Given the description of an element on the screen output the (x, y) to click on. 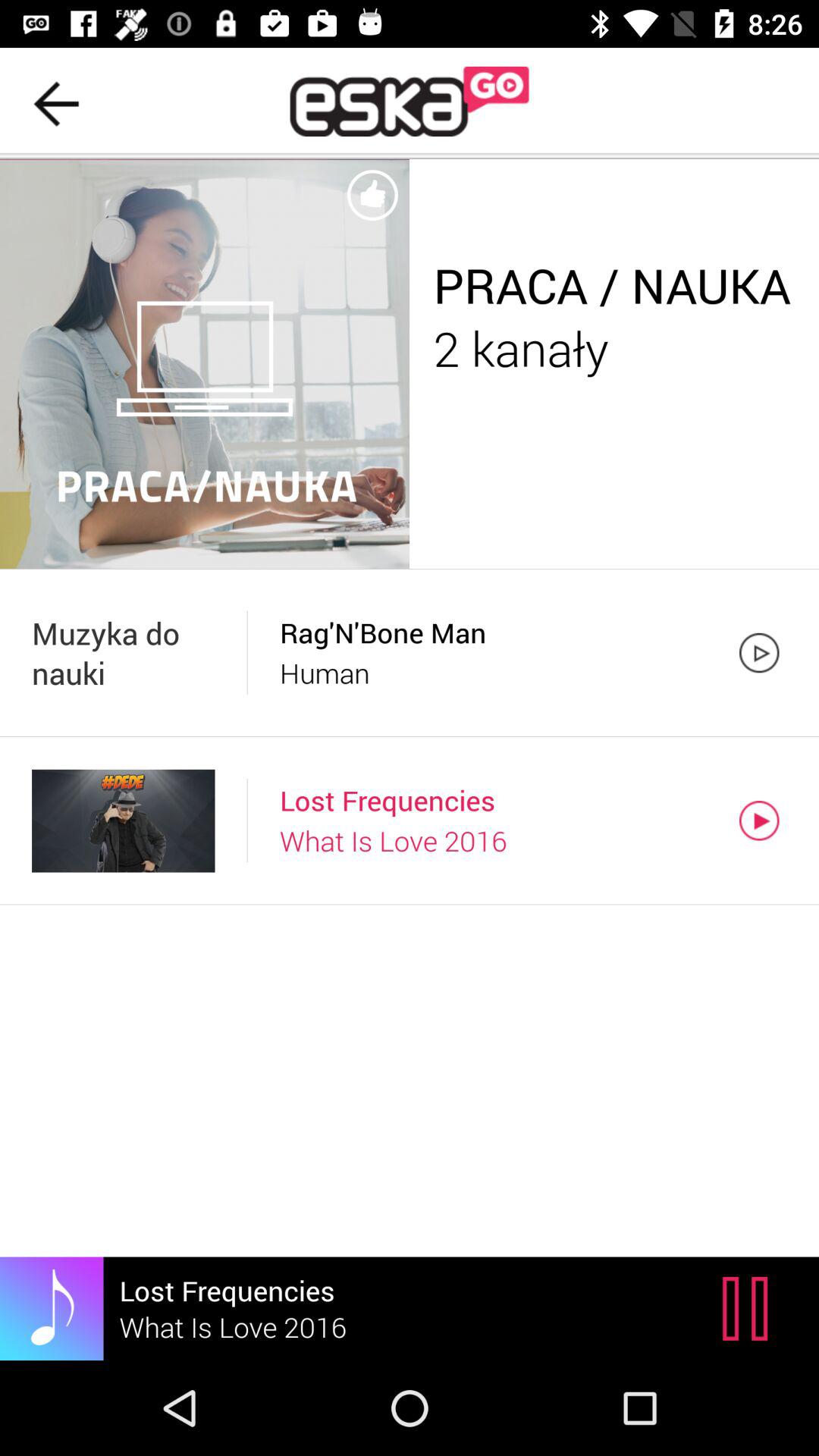
select item next to lost frequencies (749, 1308)
